Given the description of an element on the screen output the (x, y) to click on. 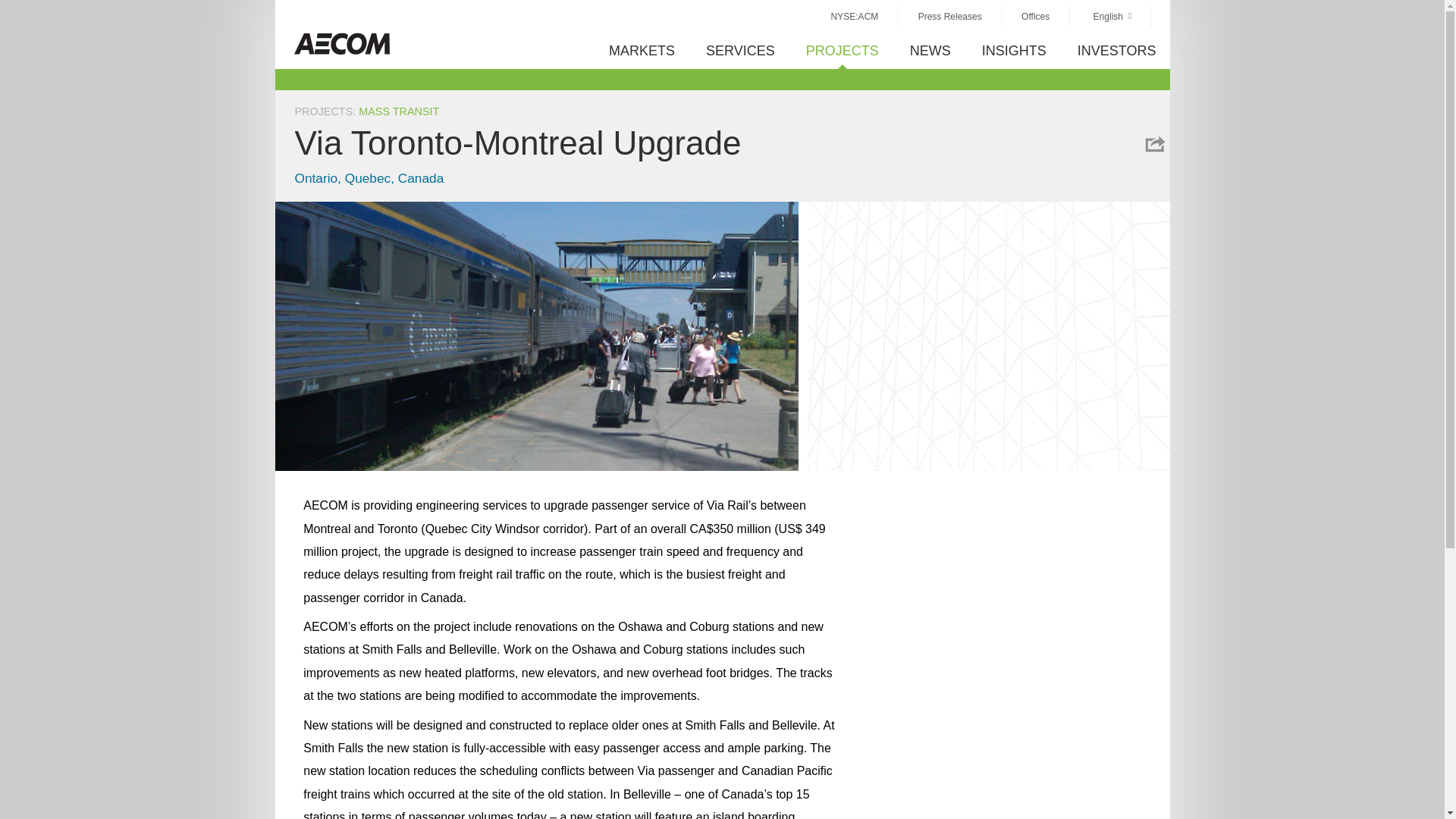
View all Projects in the Mass Transit market (398, 111)
NYSE:ACM (854, 15)
